Given the description of an element on the screen output the (x, y) to click on. 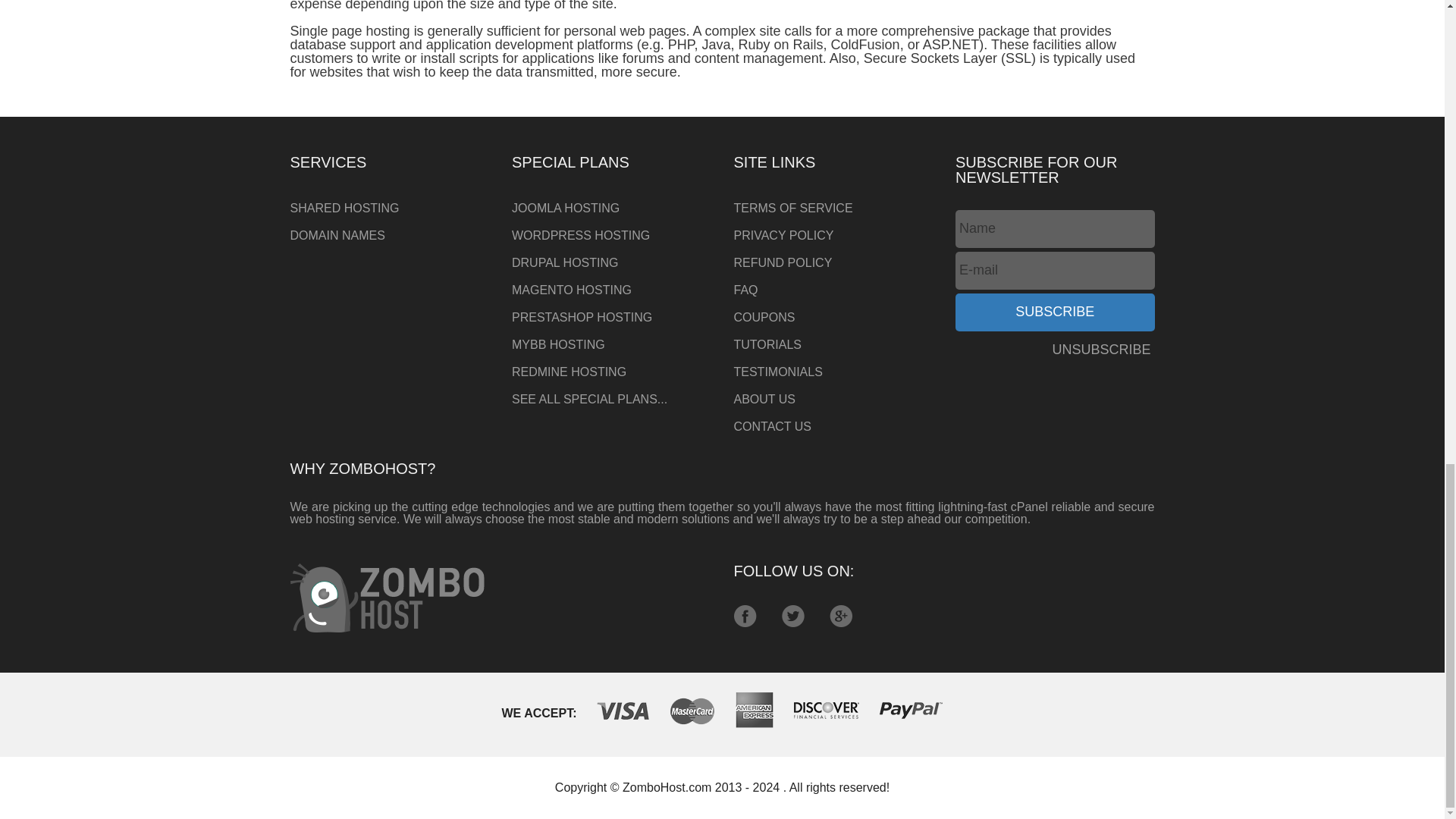
PRIVACY POLICY (833, 235)
TERMS OF SERVICE (833, 207)
E-mail (1054, 270)
ABOUT US (833, 399)
Name (1054, 228)
DOMAIN NAMES (389, 235)
DRUPAL HOSTING (611, 262)
American Express (754, 710)
Find us on Facebook (745, 616)
Master Card (691, 710)
COUPONS (833, 317)
REFUND POLICY (833, 262)
Discover (826, 710)
TESTIMONIALS (833, 371)
SHARED HOSTING (389, 207)
